Given the description of an element on the screen output the (x, y) to click on. 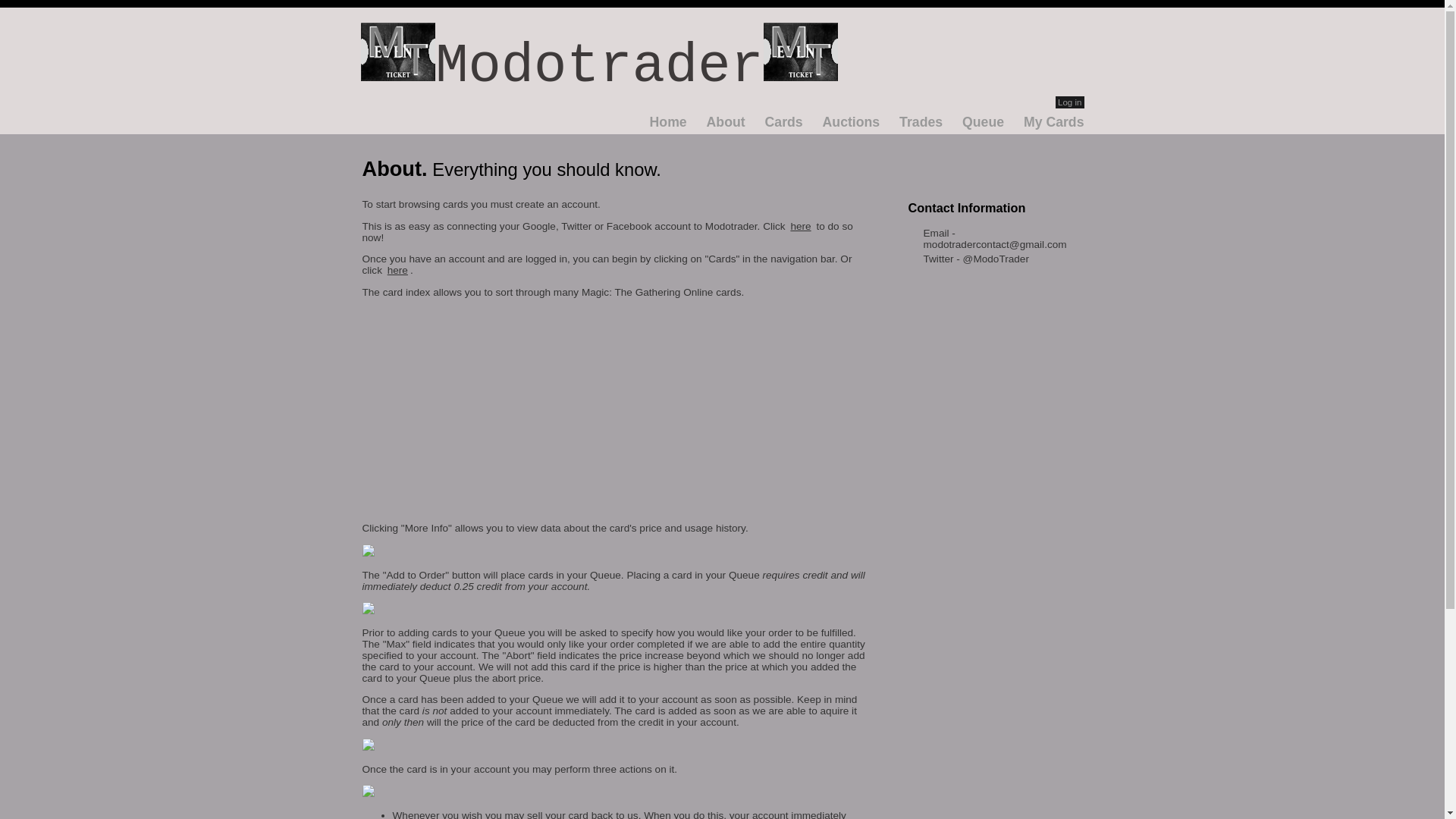
Auctions (851, 121)
Log in (1069, 102)
About (726, 121)
here (397, 270)
Home (667, 121)
Modotrader (599, 66)
here (799, 225)
Cards (783, 121)
Trades (920, 121)
My Cards (1054, 121)
Queue (982, 121)
